Given the description of an element on the screen output the (x, y) to click on. 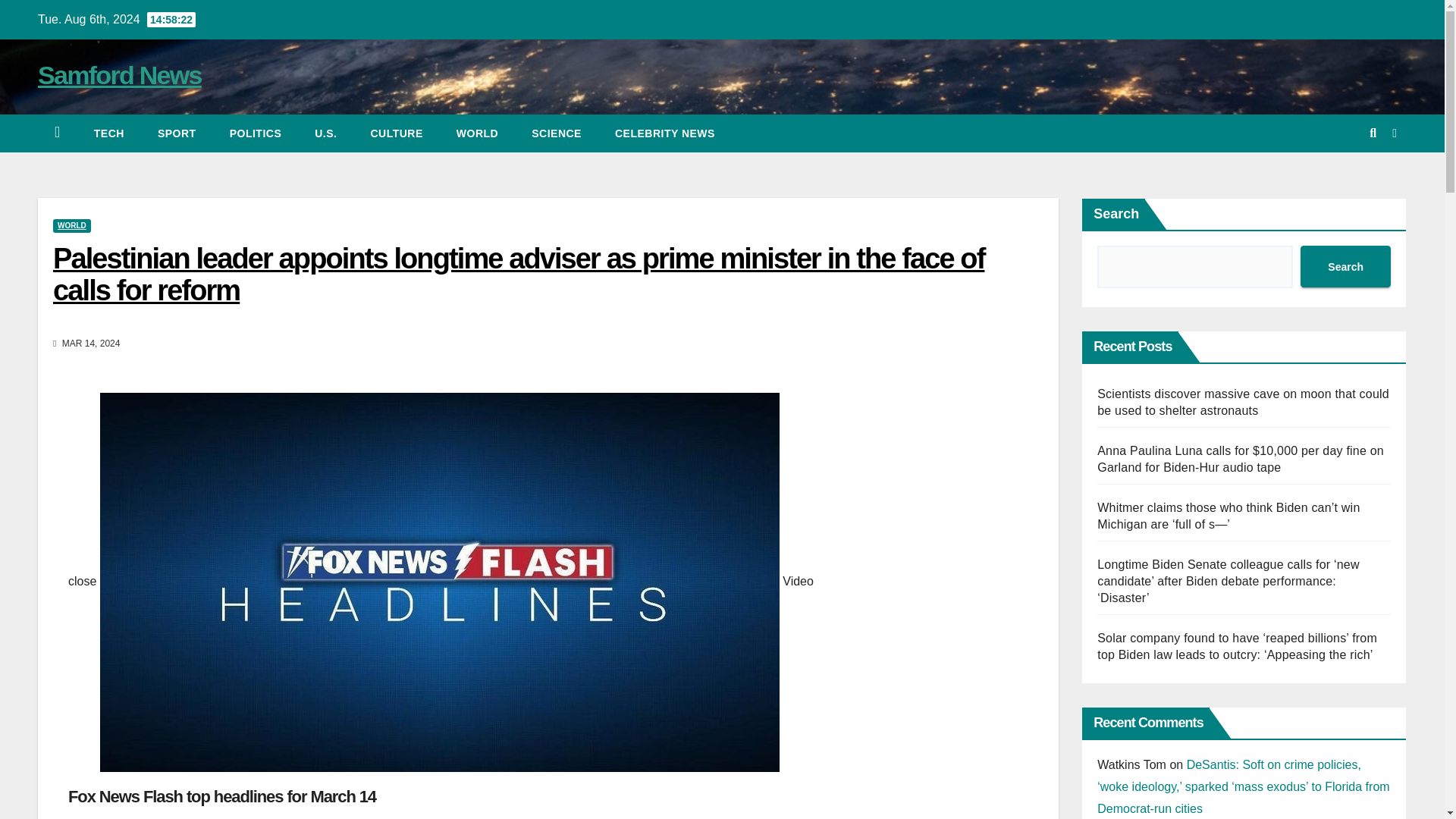
U.S. (325, 133)
World (477, 133)
Search (1345, 266)
CELEBRITY NEWS (665, 133)
Politics (255, 133)
CULTURE (396, 133)
WORLD (477, 133)
Celebrity News (665, 133)
